Given the description of an element on the screen output the (x, y) to click on. 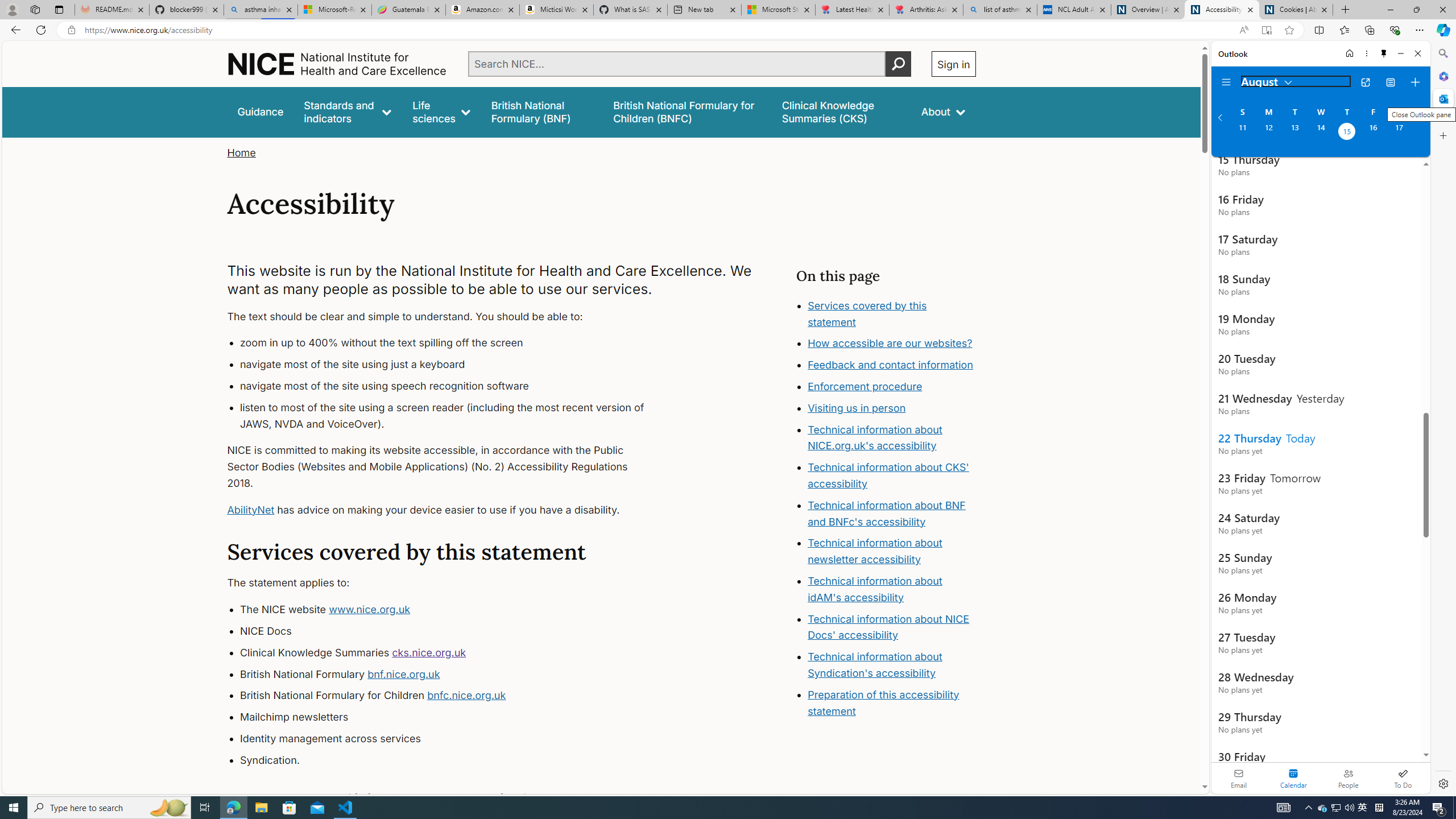
Unpin side pane (1383, 53)
People (1347, 777)
NCL Adult Asthma Inhaler Choice Guideline (1073, 9)
NICE Docs (452, 630)
bnfc.nice.org.uk (466, 695)
About (942, 111)
Enter Immersive Reader (F9) (1266, 29)
Monday, August 12, 2024.  (1268, 132)
Sunday, August 11, 2024.  (1242, 132)
Technical information about NICE Docs' accessibility (888, 626)
Sign in (952, 63)
